Given the description of an element on the screen output the (x, y) to click on. 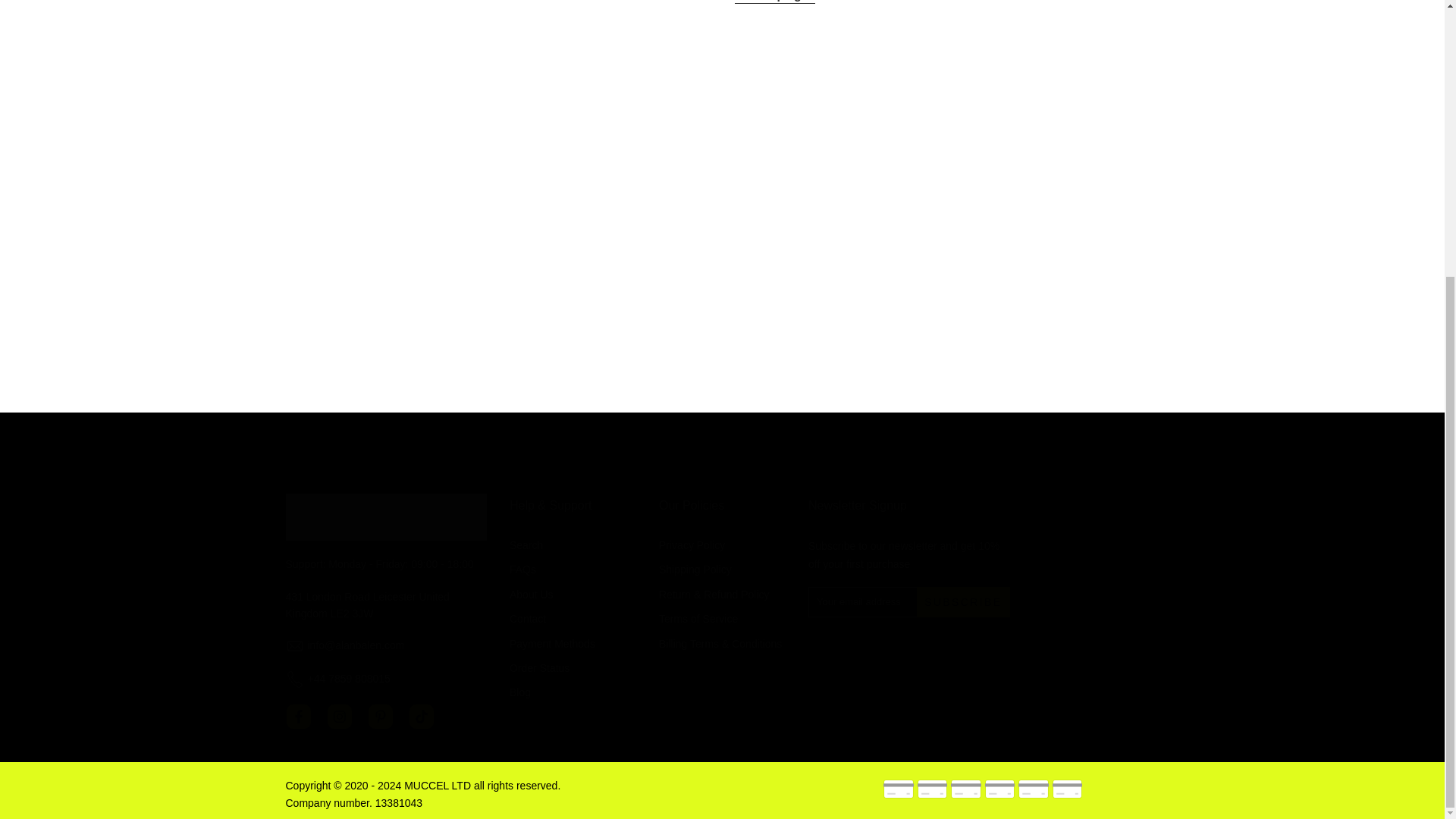
Shipping Policy (695, 569)
Payment Methods (552, 644)
Order Status (539, 667)
Follow on Instagram (339, 716)
Terms of Service (698, 618)
SUBSCRIBE (963, 602)
Contact (527, 618)
Privacy Policy (692, 544)
FAQs (522, 569)
Follow on Facebook (298, 716)
